Given the description of an element on the screen output the (x, y) to click on. 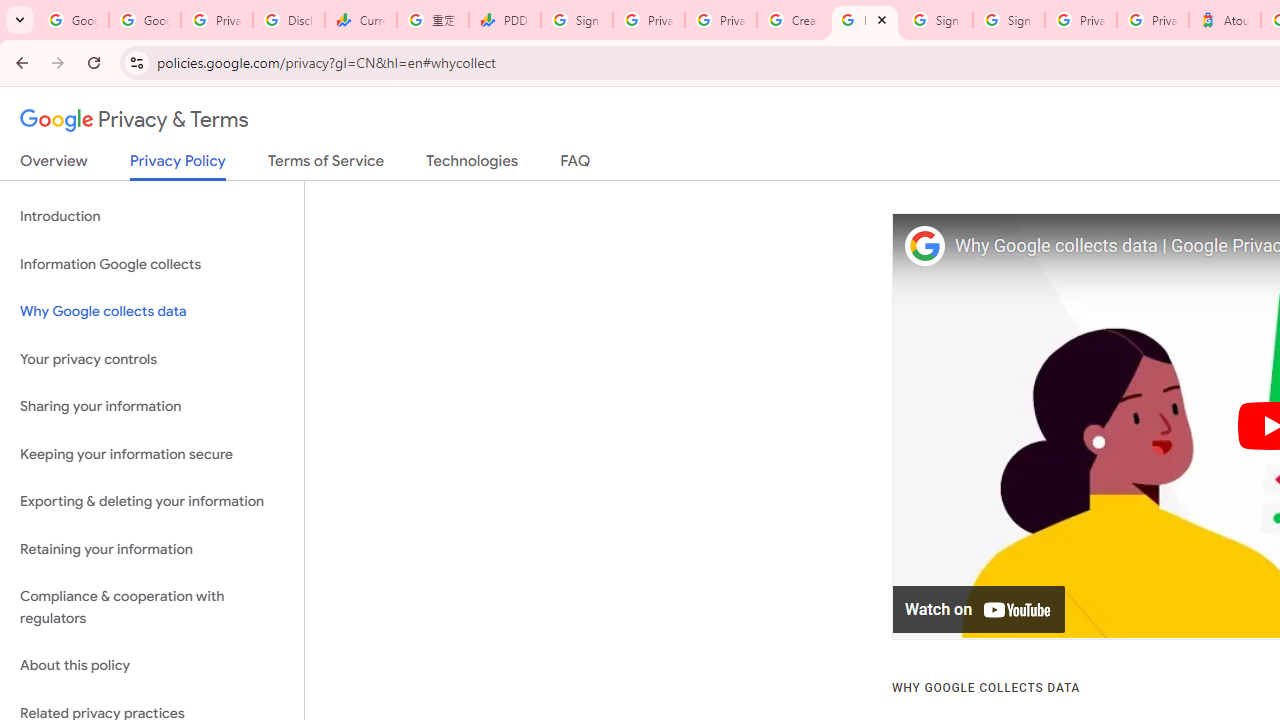
Compliance & cooperation with regulators (152, 607)
Atour Hotel - Google hotels (1224, 20)
Information Google collects (152, 263)
Watch on YouTube (979, 610)
About this policy (152, 666)
Sign in - Google Accounts (936, 20)
Google Workspace Admin Community (72, 20)
